Given the description of an element on the screen output the (x, y) to click on. 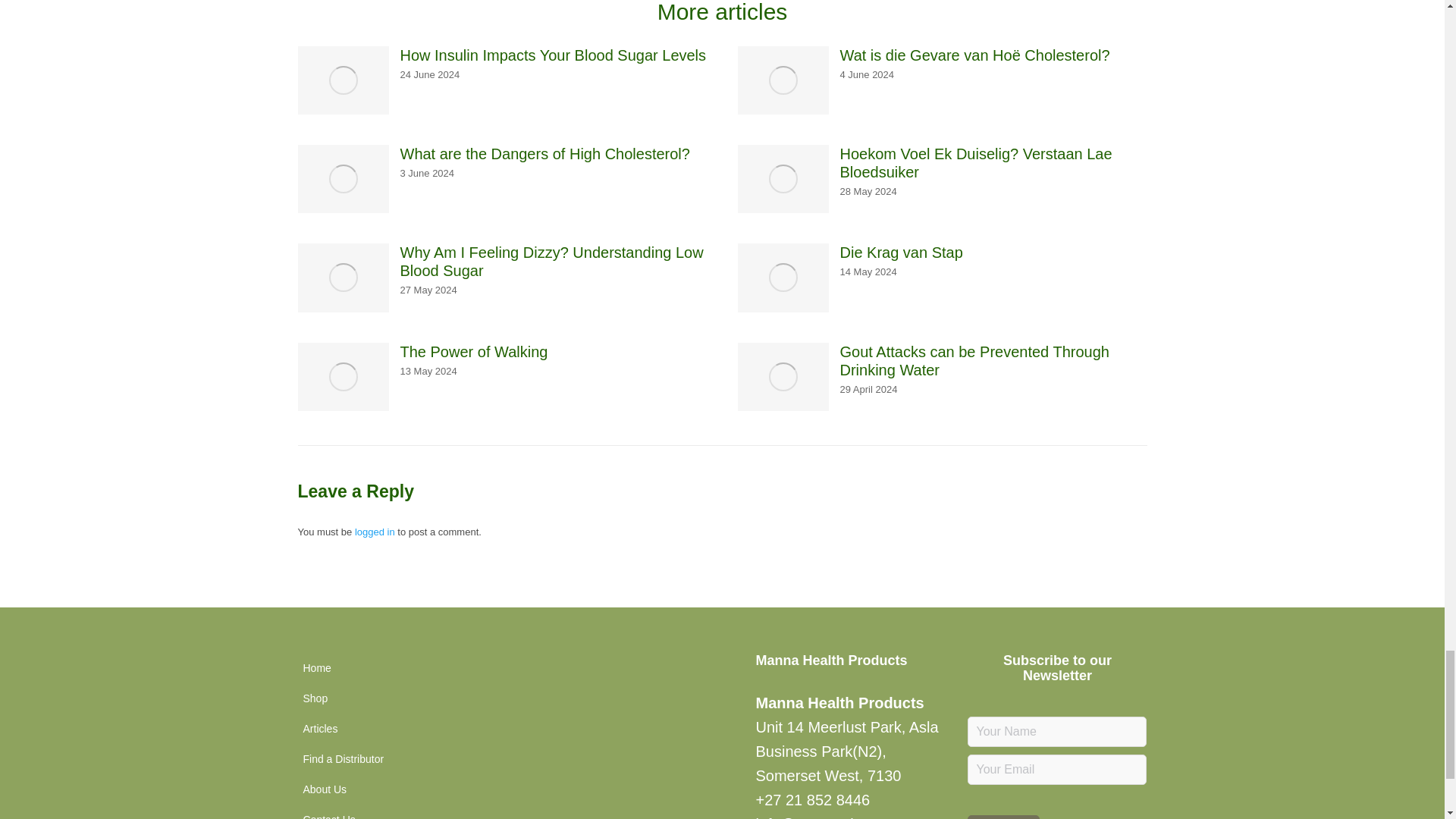
12:17 pm (868, 192)
Why Am I Feeling Dizzy? Understanding Low Blood Sugar (553, 261)
Hoekom Voel Ek Duiselig? Verstaan Lae Bloedsuiker (993, 162)
7:06 pm (427, 173)
4:50 pm (430, 74)
What are the Dangers of High Cholesterol? (545, 153)
4:42 pm (867, 74)
How Insulin Impacts Your Blood Sugar Levels (553, 54)
